Given the description of an element on the screen output the (x, y) to click on. 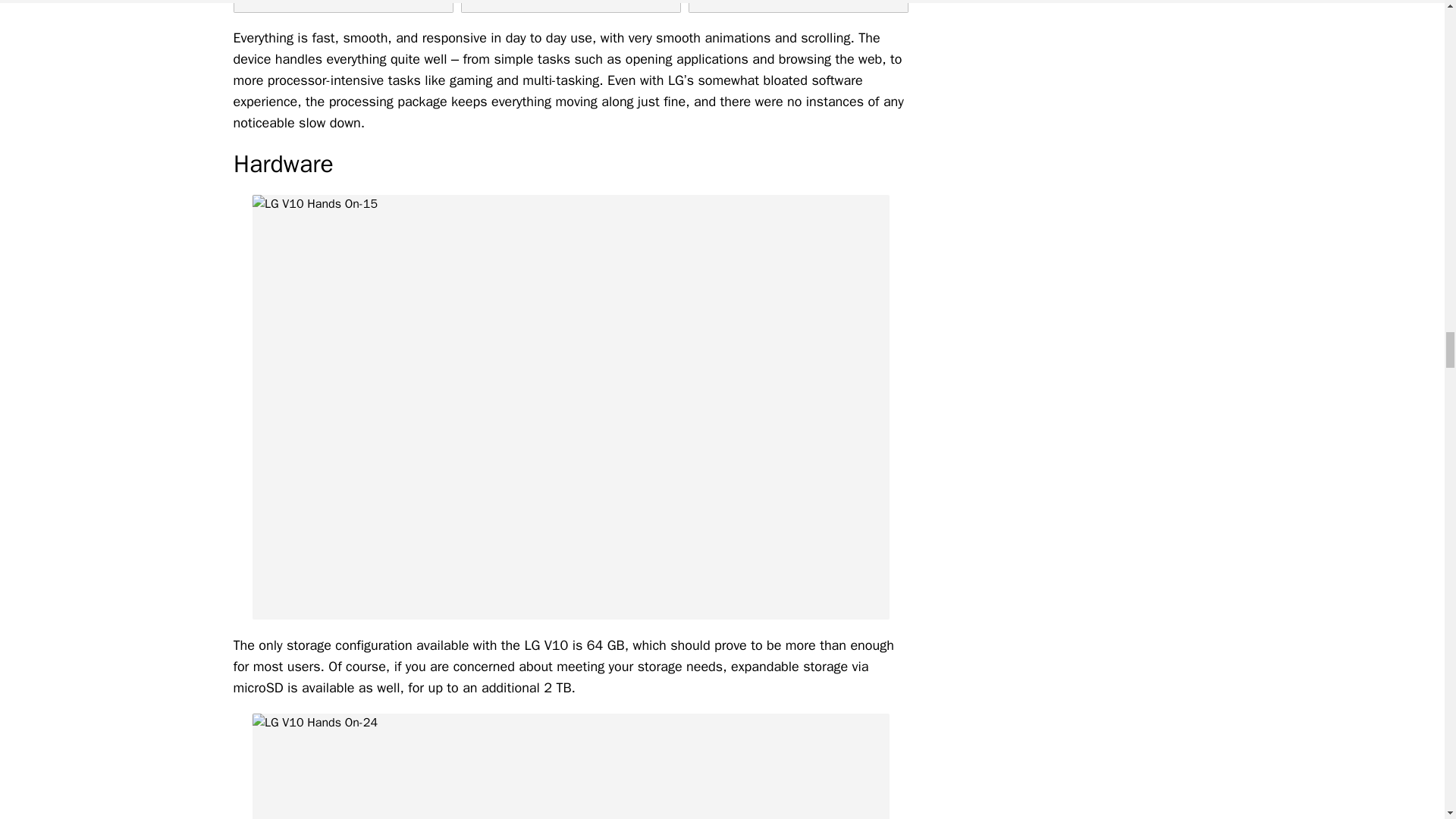
LG V10 screenshots-20 (342, 6)
LG V10 screenshots-18 (798, 6)
LG V10 screenshots-19 (571, 6)
LG V10 Hands On-24 (569, 766)
